Given the description of an element on the screen output the (x, y) to click on. 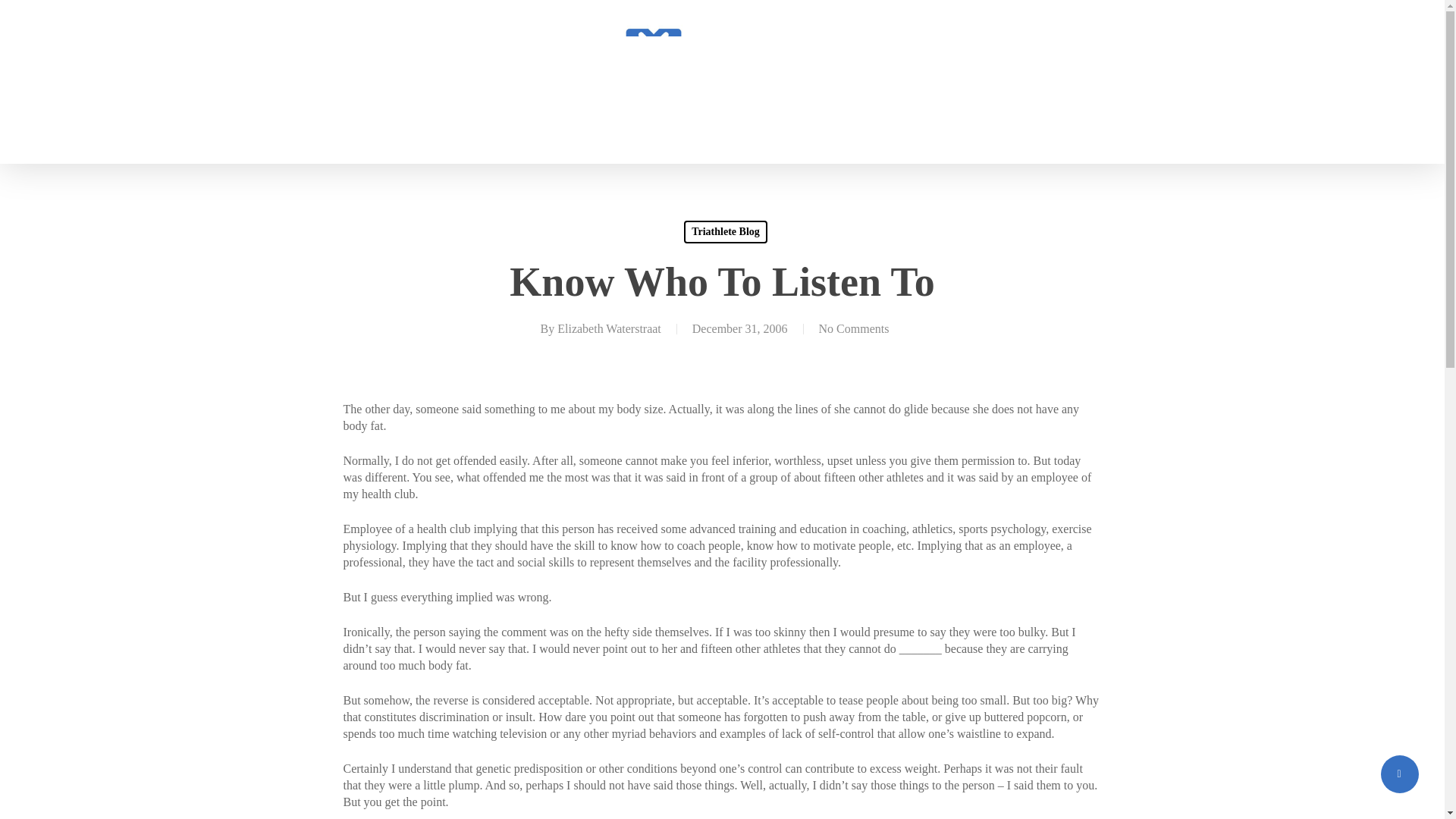
Posts by Elizabeth Waterstraat (609, 328)
No Comments (853, 328)
Elizabeth Waterstraat (609, 328)
Triathlete Blog (725, 231)
